Given the description of an element on the screen output the (x, y) to click on. 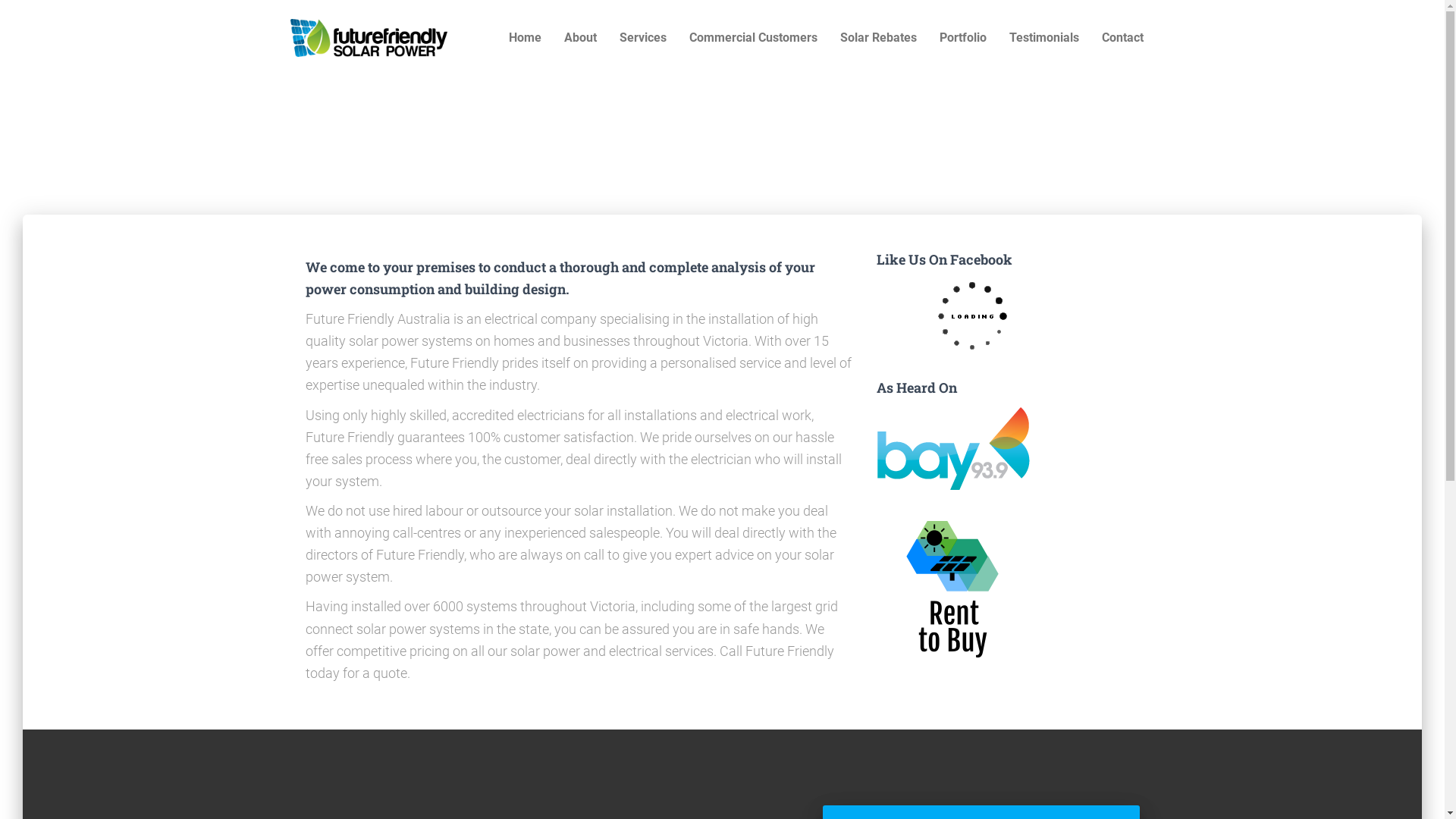
Services Element type: text (642, 37)
Home Element type: text (524, 37)
Solar Rebates Element type: text (877, 37)
Portfolio Element type: text (962, 37)
About Element type: text (579, 37)
Testimonials Element type: text (1043, 37)
Future Friendly Element type: hover (368, 37)
Commercial Customers Element type: text (752, 37)
Contact Element type: text (1122, 37)
